Given the description of an element on the screen output the (x, y) to click on. 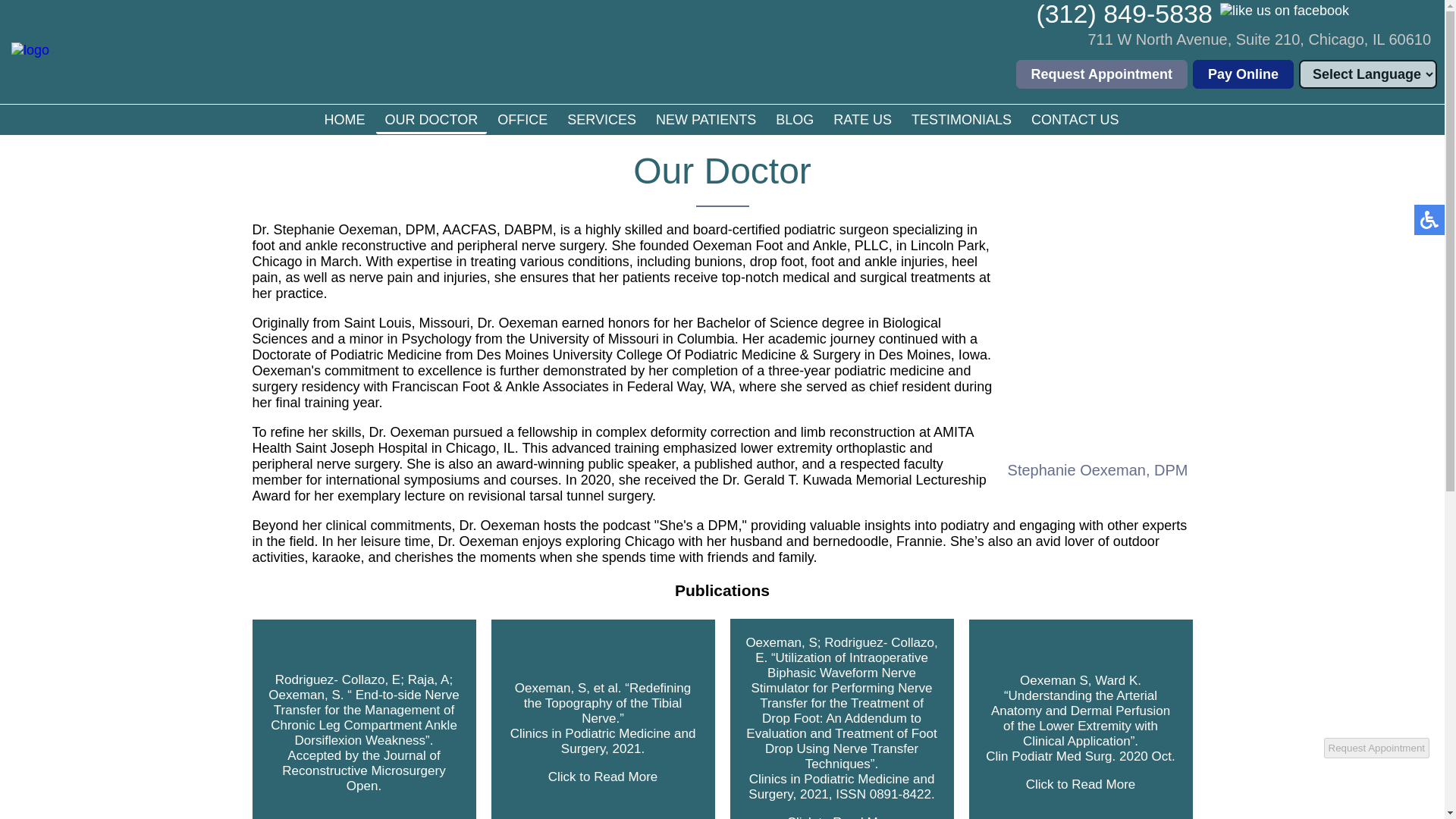
OUR DOCTOR (431, 120)
HOME (344, 119)
Review Us (1364, 22)
NEW PATIENTS (705, 119)
Request Appointment (1102, 73)
Review Us (1420, 22)
OFFICE (521, 119)
Review Us (1392, 22)
RATE US (862, 119)
Like Us (1284, 10)
TESTIMONIALS (961, 119)
Request Appointment (1102, 73)
Redefining the Topography of the Tibial Nerve (603, 732)
Call Us (1123, 14)
